Given the description of an element on the screen output the (x, y) to click on. 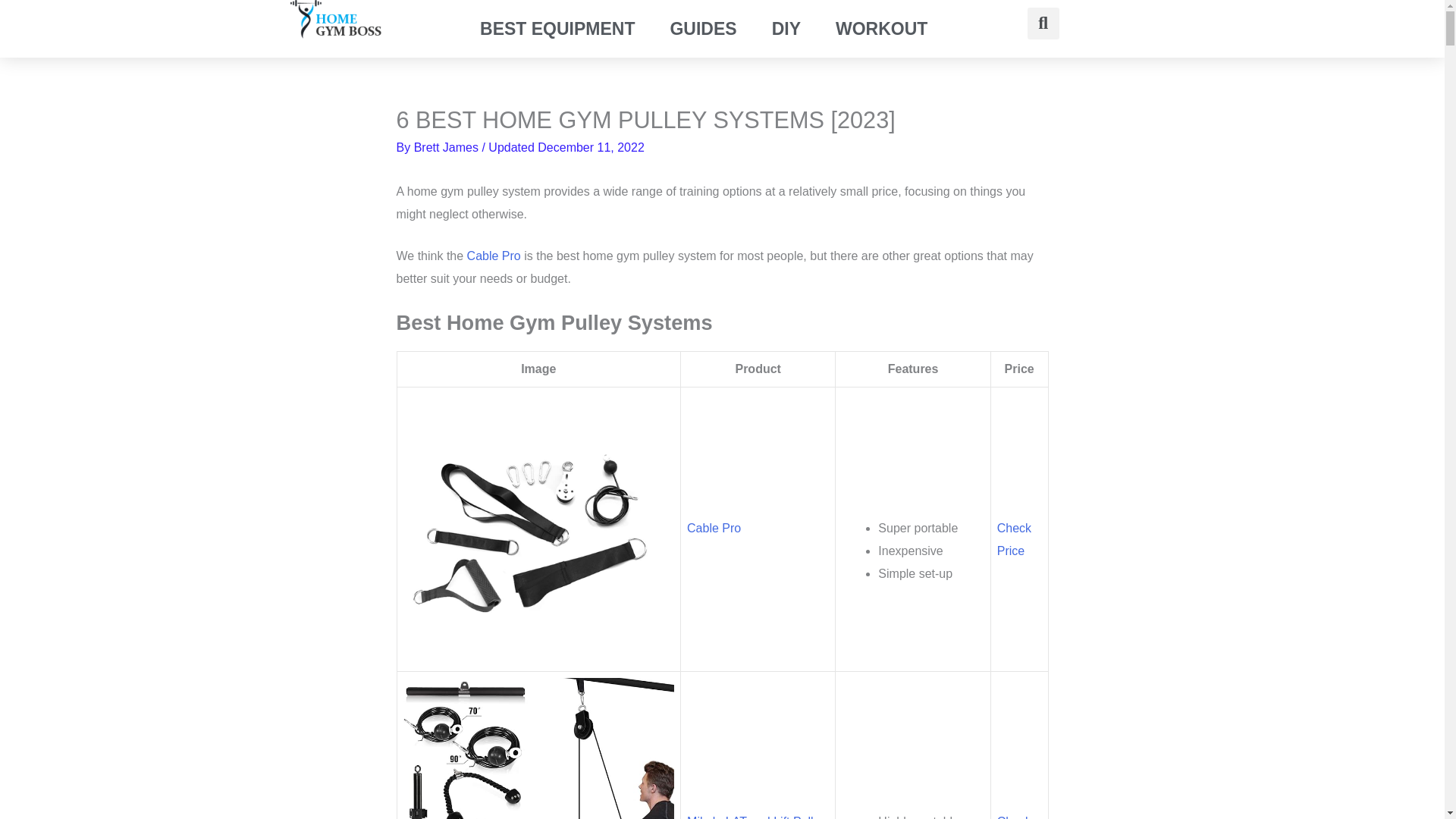
Brett James (447, 146)
Cable Pro (714, 527)
WORKOUT (881, 28)
Check Price (1013, 539)
Cable Pro (494, 255)
Mikolo LAT and Lift Pulley System (757, 816)
DIY (786, 28)
GUIDES (702, 28)
View all posts by Brett James (447, 146)
Check Price (1013, 816)
